Given the description of an element on the screen output the (x, y) to click on. 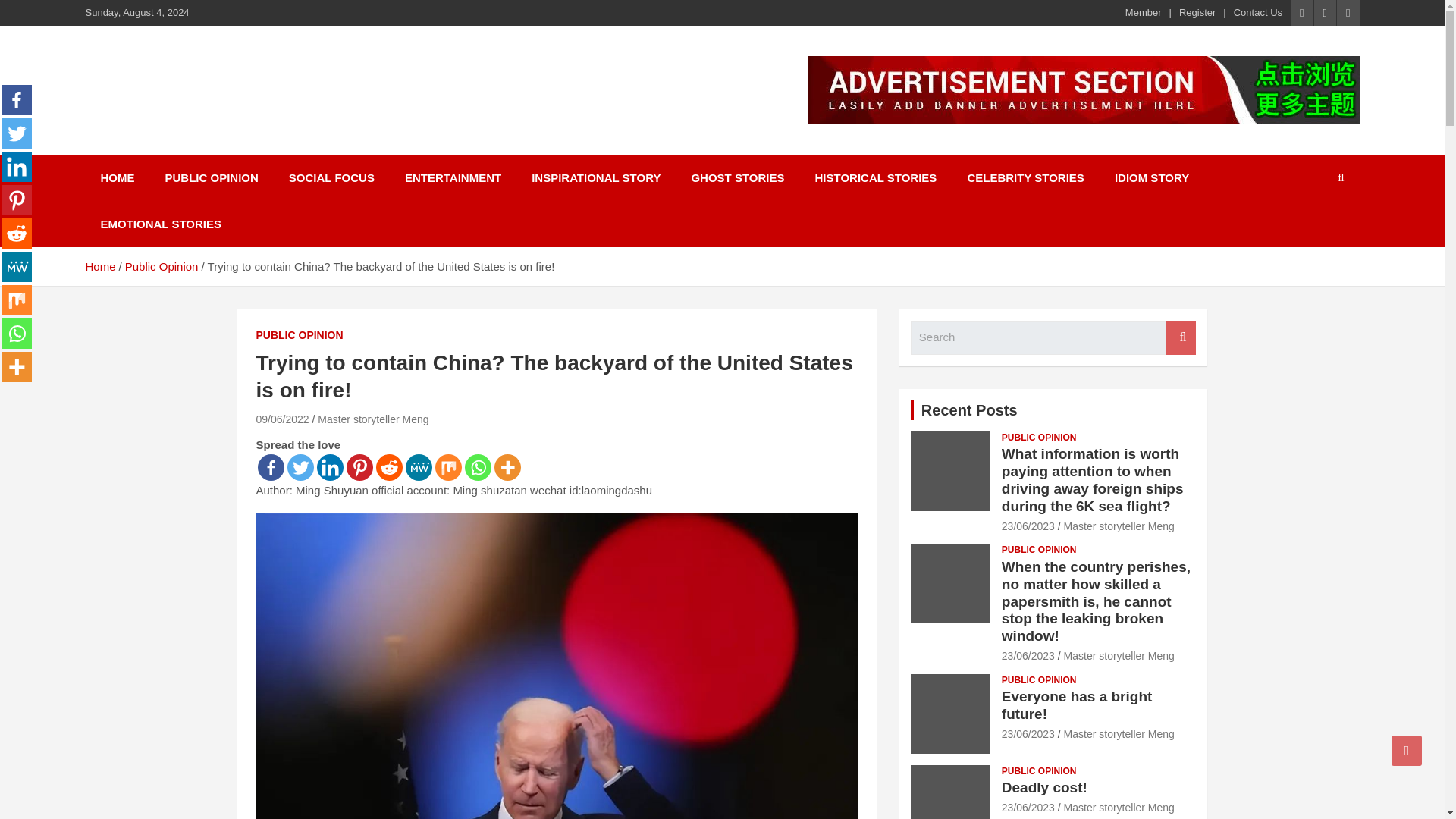
Facebook (16, 100)
Contact Us (1257, 12)
CELEBRITY STORIES (1025, 177)
Twitter (16, 132)
SOCIAL FOCUS (331, 177)
MeWe (417, 467)
PUBLIC OPINION (211, 177)
EMOTIONAL STORIES (159, 223)
HISTORICAL STORIES (875, 177)
Pinterest (16, 200)
Chinese Stories (199, 82)
IDIOM STORY (1151, 177)
PUBLIC OPINION (299, 335)
INSPIRATIONAL STORY (595, 177)
Mix (448, 467)
